Given the description of an element on the screen output the (x, y) to click on. 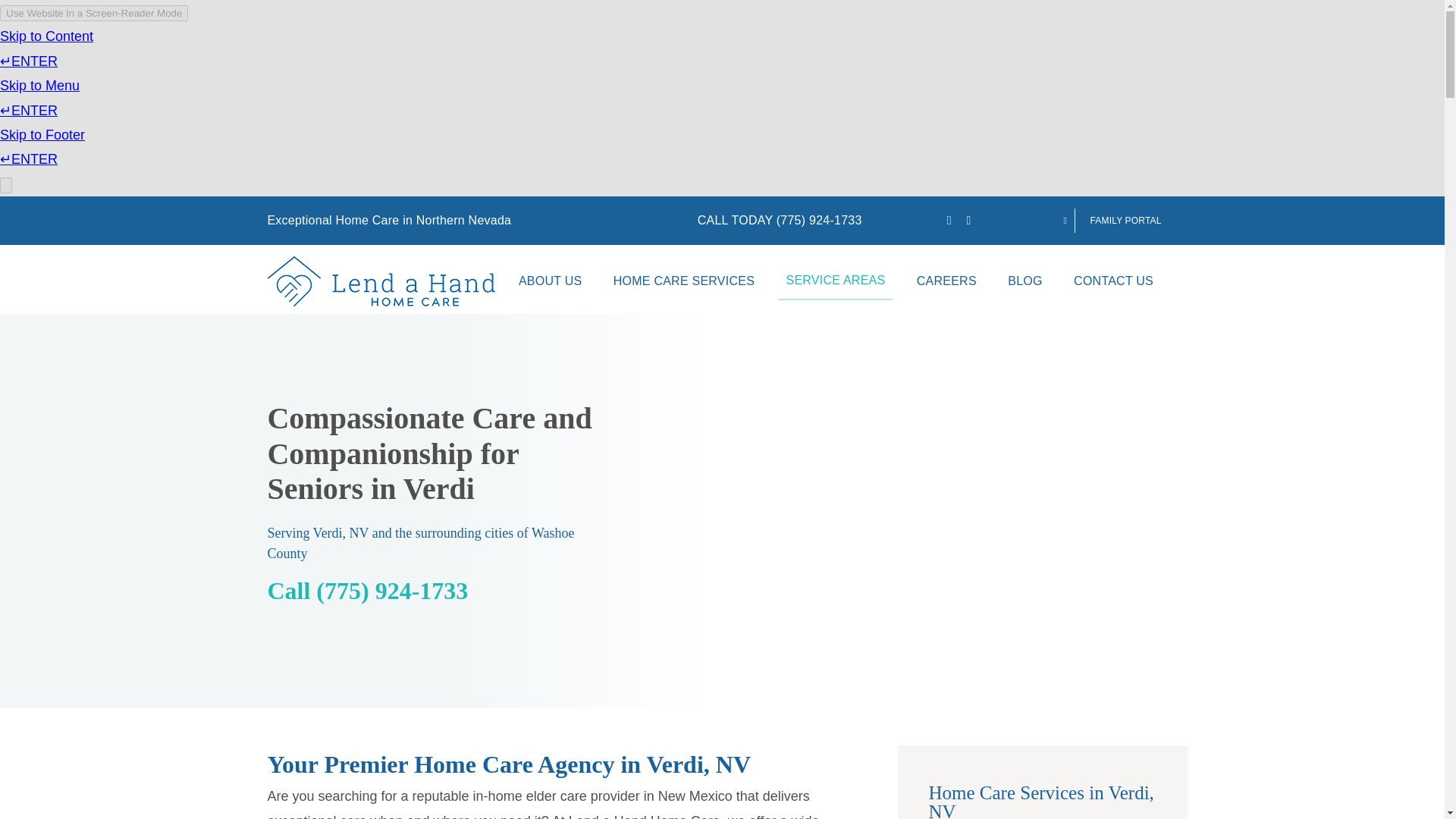
ABOUT US (550, 281)
HOME CARE SERVICES (683, 281)
CAREERS (946, 281)
FAMILY PORTAL (1115, 220)
SERVICE AREAS (834, 281)
BLOG (1024, 281)
